Given the description of an element on the screen output the (x, y) to click on. 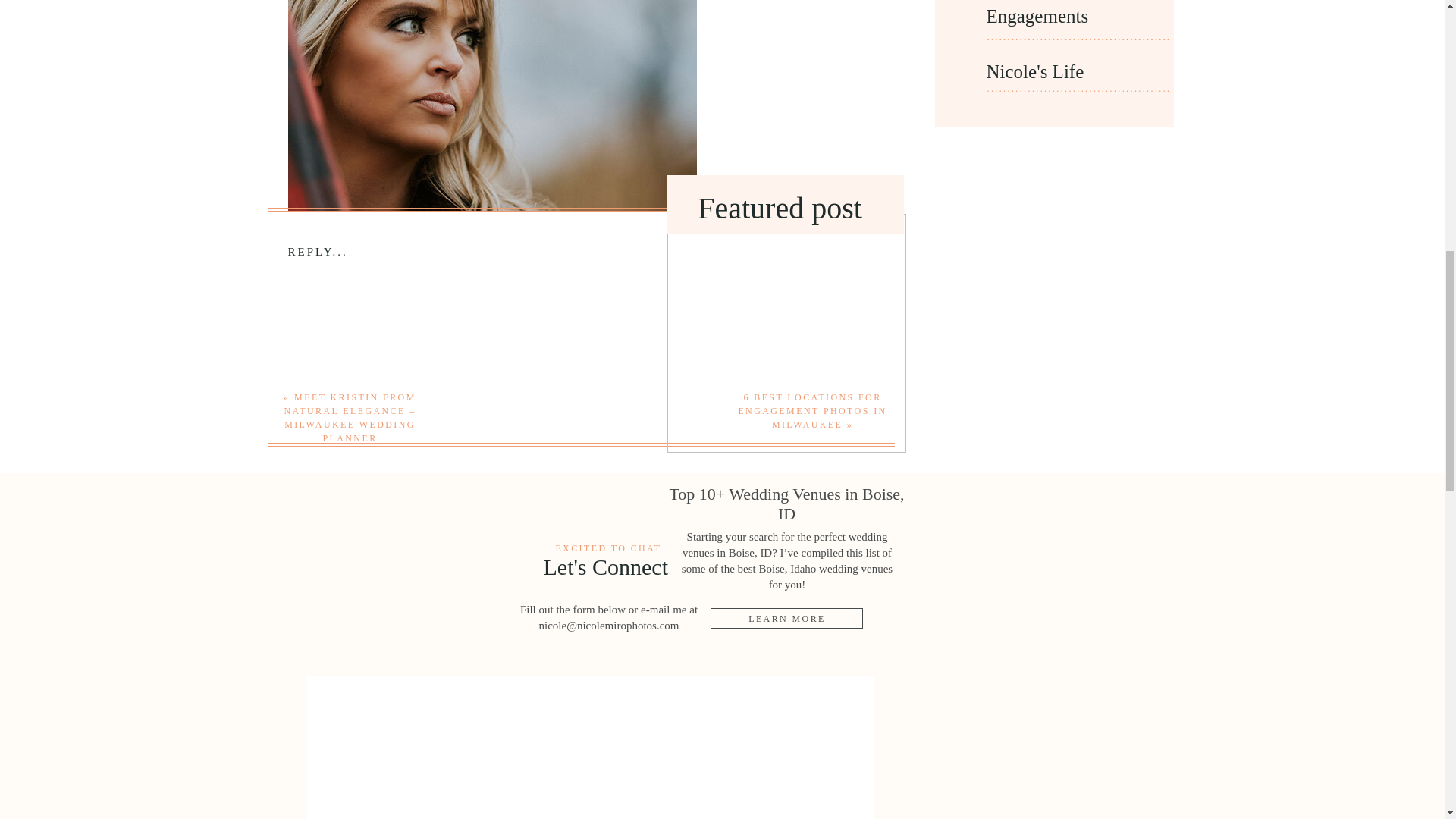
Engagements (1073, 18)
6 BEST LOCATIONS FOR ENGAGEMENT PHOTOS IN MILWAUKEE (812, 410)
Nicole's Life (1050, 74)
LEARN MORE (786, 617)
